Given the description of an element on the screen output the (x, y) to click on. 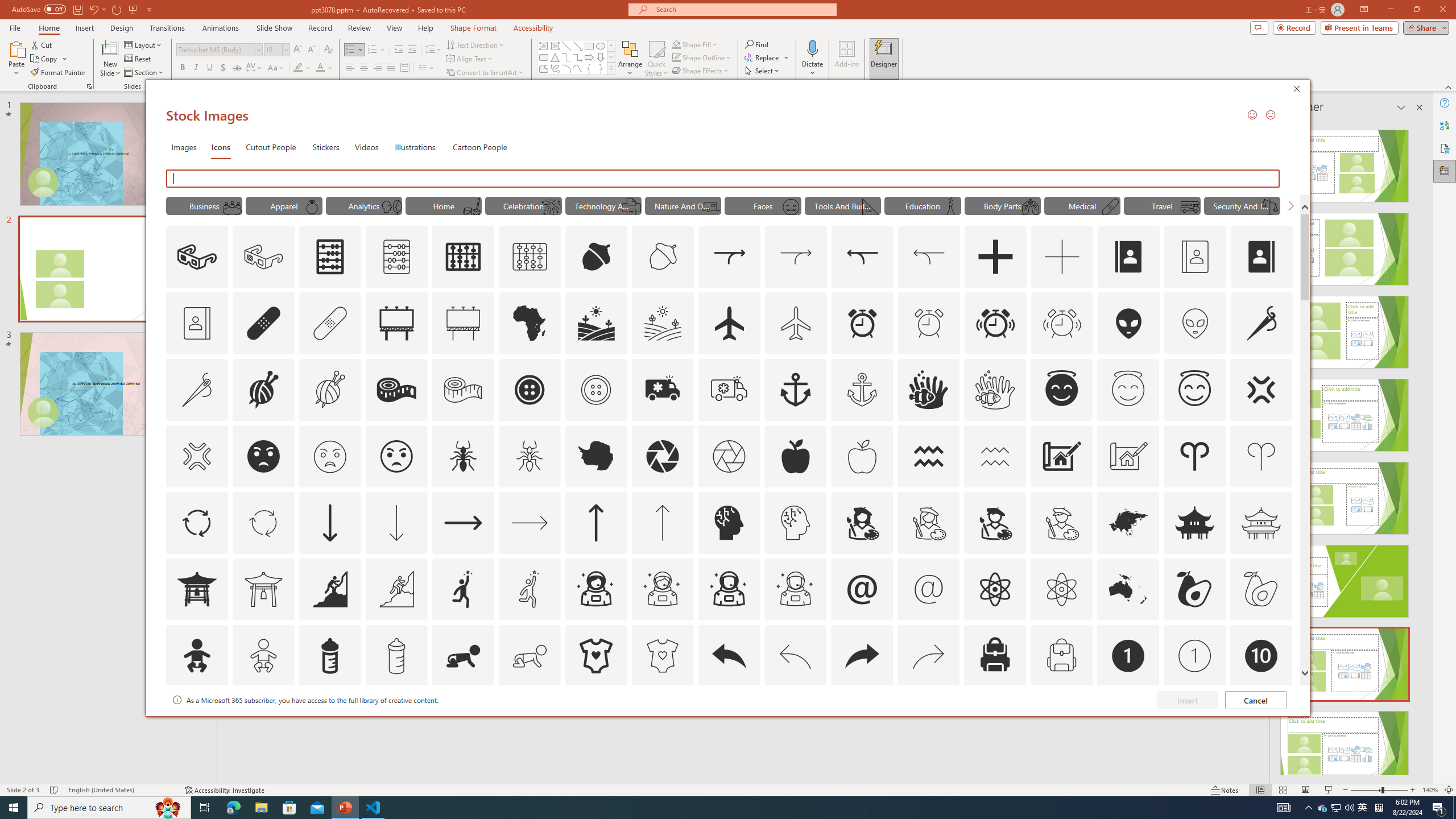
Running applications (700, 807)
AutomationID: Icons_Ant_M (529, 455)
AutomationID: Icons_Architecture (1061, 455)
AutomationID: Icons_Badge2_M (329, 721)
Columns (426, 67)
AutomationID: Icons_WeightsUneven1_M (1269, 206)
Isosceles Triangle (554, 57)
Office Clipboard... (88, 85)
